Given the description of an element on the screen output the (x, y) to click on. 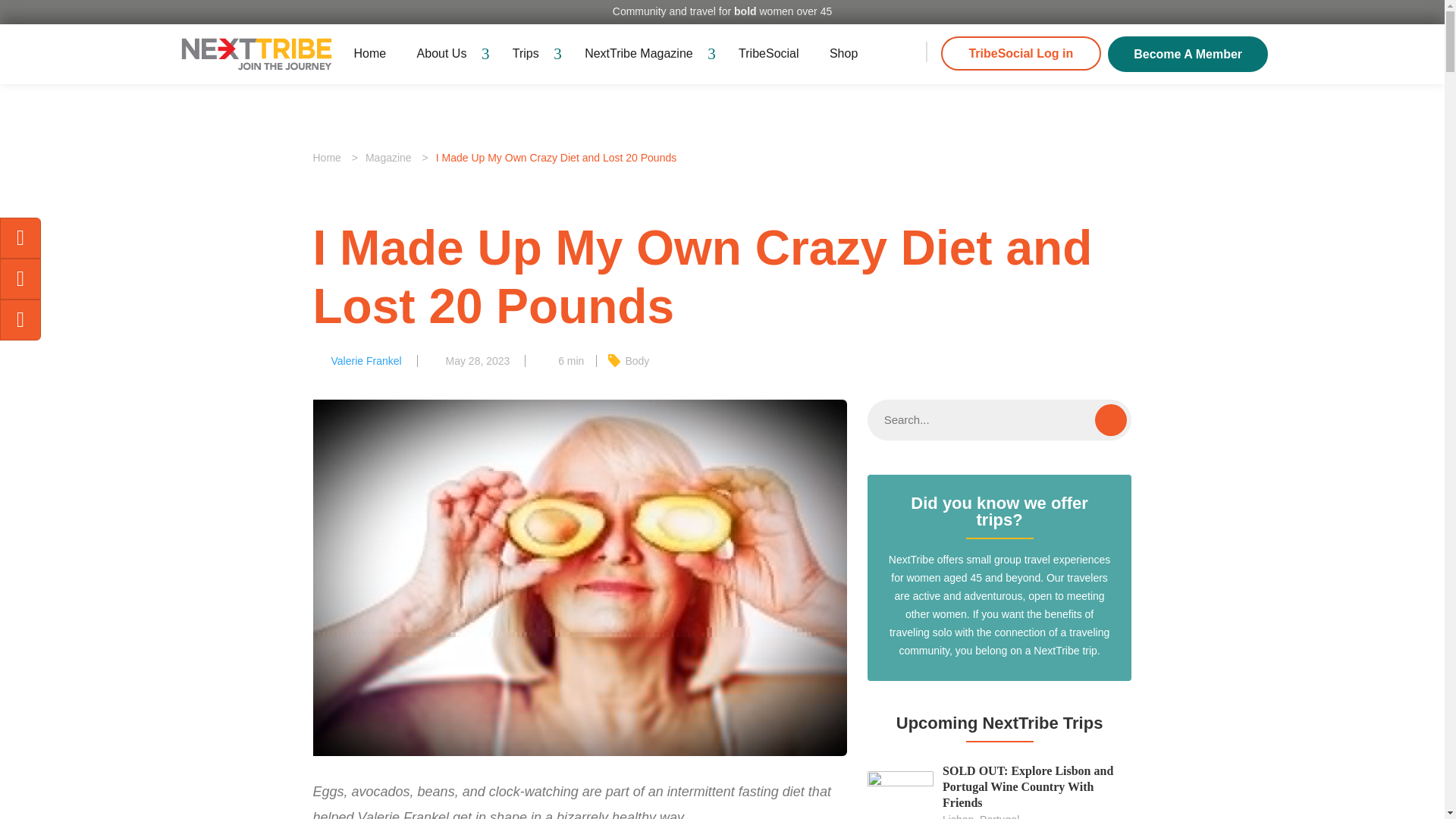
About Us (448, 53)
NextTribe Magazine (646, 53)
Search (1110, 419)
Search (1110, 419)
TribeSocial (767, 53)
